Given the description of an element on the screen output the (x, y) to click on. 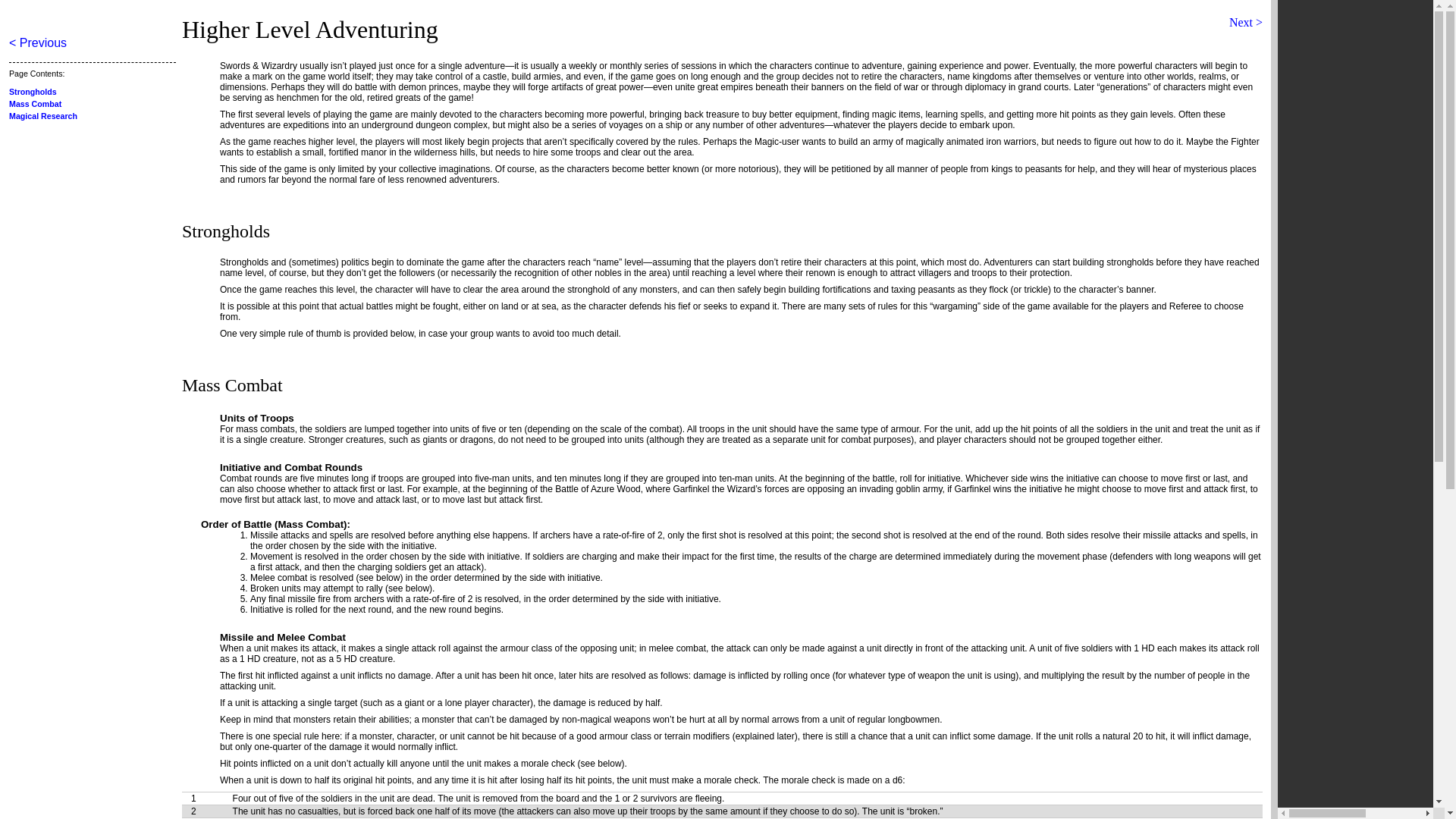
Magical Research (42, 115)
Mass Combat (34, 103)
Strongholds (32, 91)
